Given the description of an element on the screen output the (x, y) to click on. 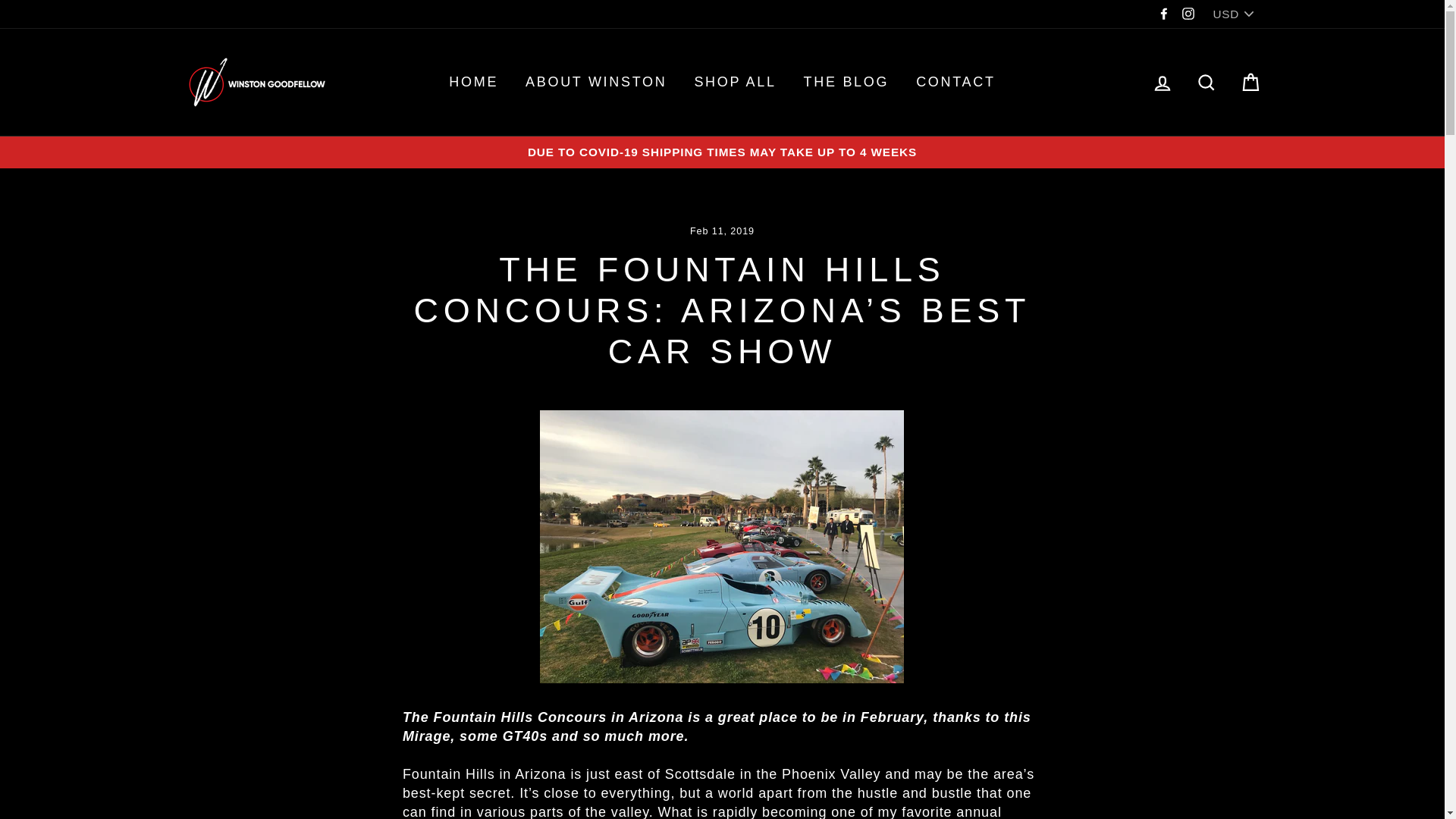
Winston Goodfellow on Facebook (1163, 13)
Instagram (1187, 13)
Facebook (1163, 13)
Winston Goodfellow on Instagram (1187, 13)
